Given the description of an element on the screen output the (x, y) to click on. 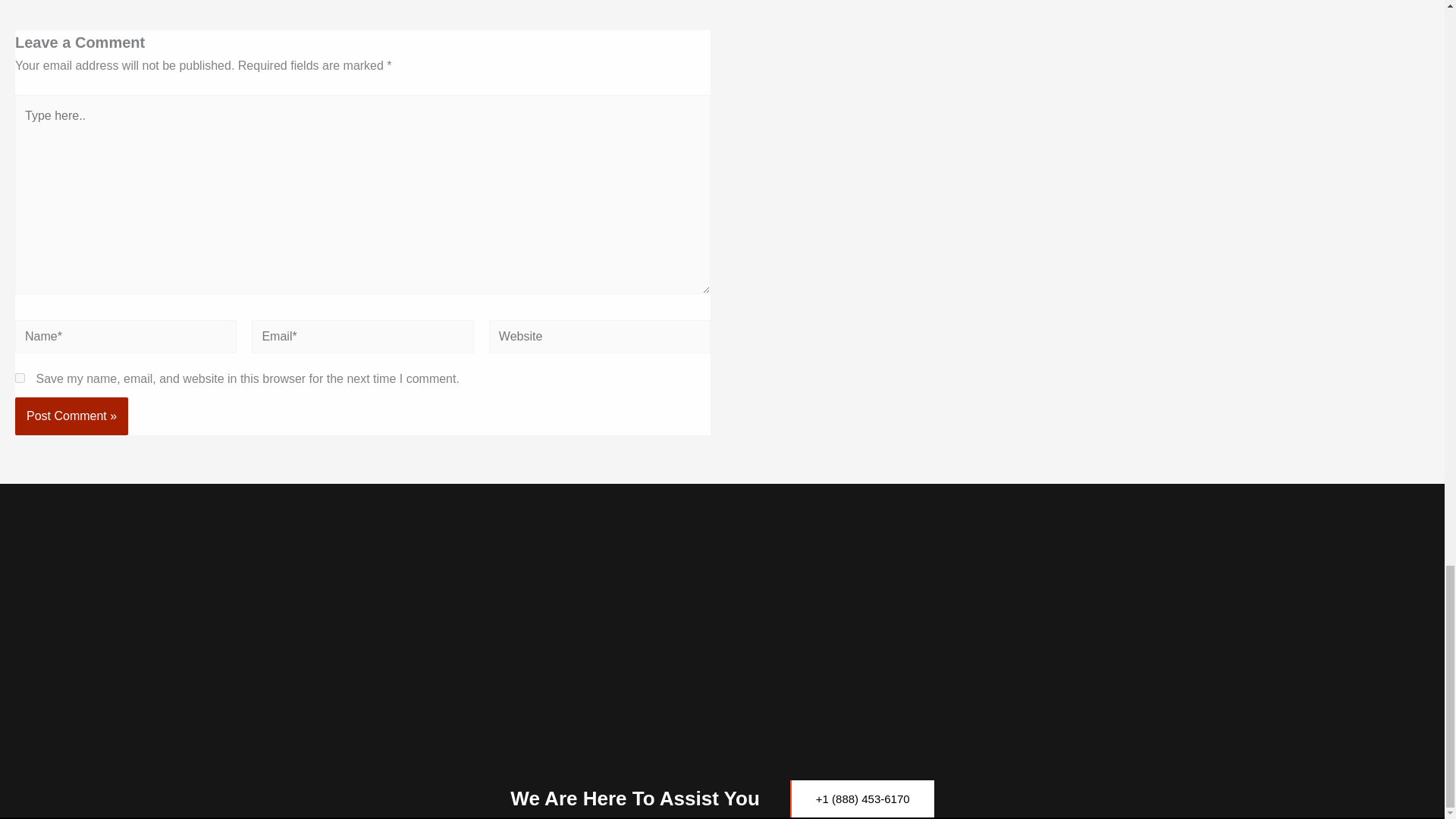
yes (19, 378)
